Given the description of an element on the screen output the (x, y) to click on. 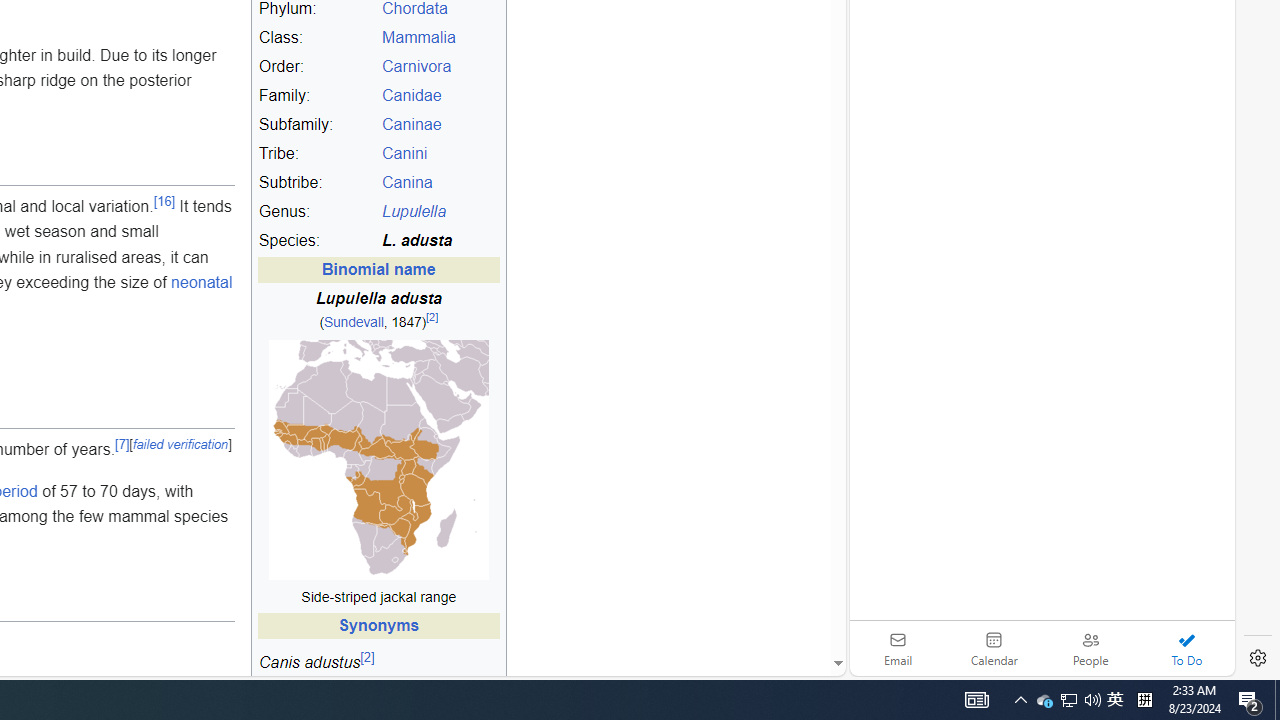
Lupulella (440, 212)
Side-striped jackal range (378, 597)
Canini (440, 154)
[2] (367, 656)
Canidae (440, 96)
Lupulella (413, 212)
Calendar. Date today is 22 (994, 648)
Subtribe: (317, 183)
Class: (317, 38)
Canidae (411, 96)
Mammalia (418, 37)
Caninae (440, 125)
Caninae (411, 124)
